Given the description of an element on the screen output the (x, y) to click on. 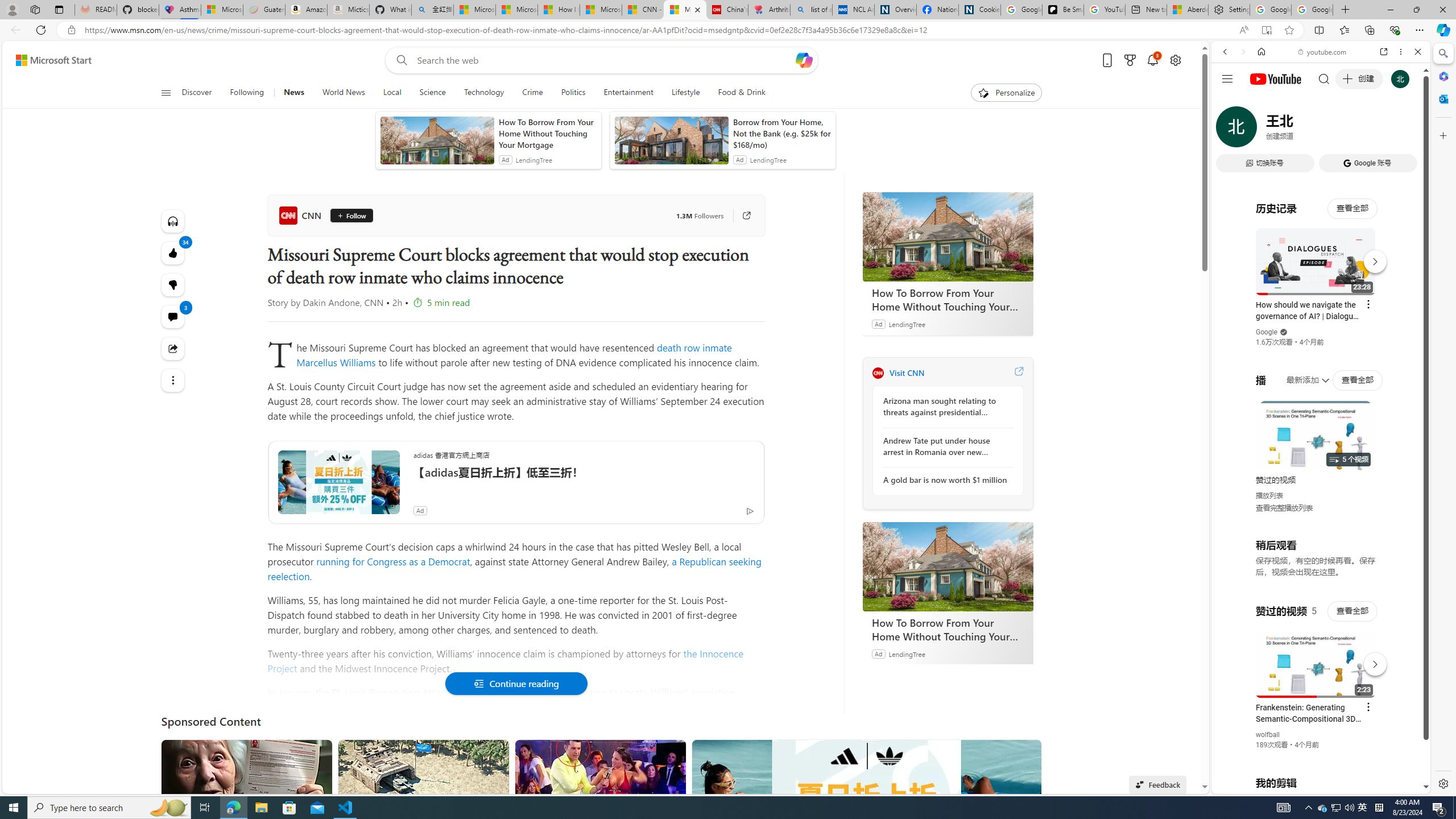
Open settings (1175, 60)
View site information (70, 29)
Class: at-item (172, 380)
Food & Drink (741, 92)
How To Borrow From Your Home Without Touching Your Mortgage (947, 566)
WEB   (1230, 130)
See more (1027, 753)
Science (432, 92)
Personalize (1006, 92)
